Given the description of an element on the screen output the (x, y) to click on. 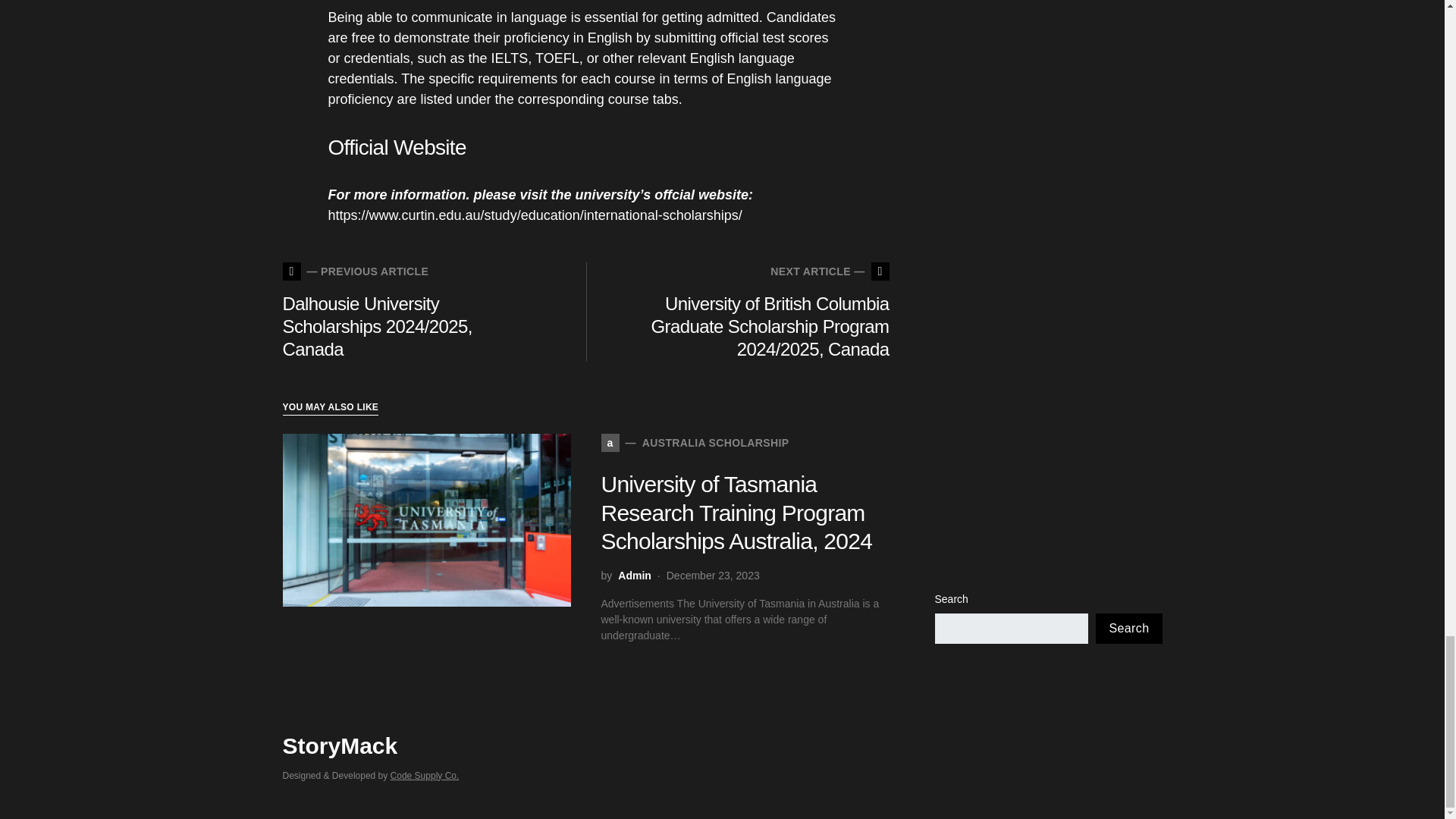
Admin (633, 575)
Code Supply Co. (425, 774)
View all posts by Admin (694, 443)
